Given the description of an element on the screen output the (x, y) to click on. 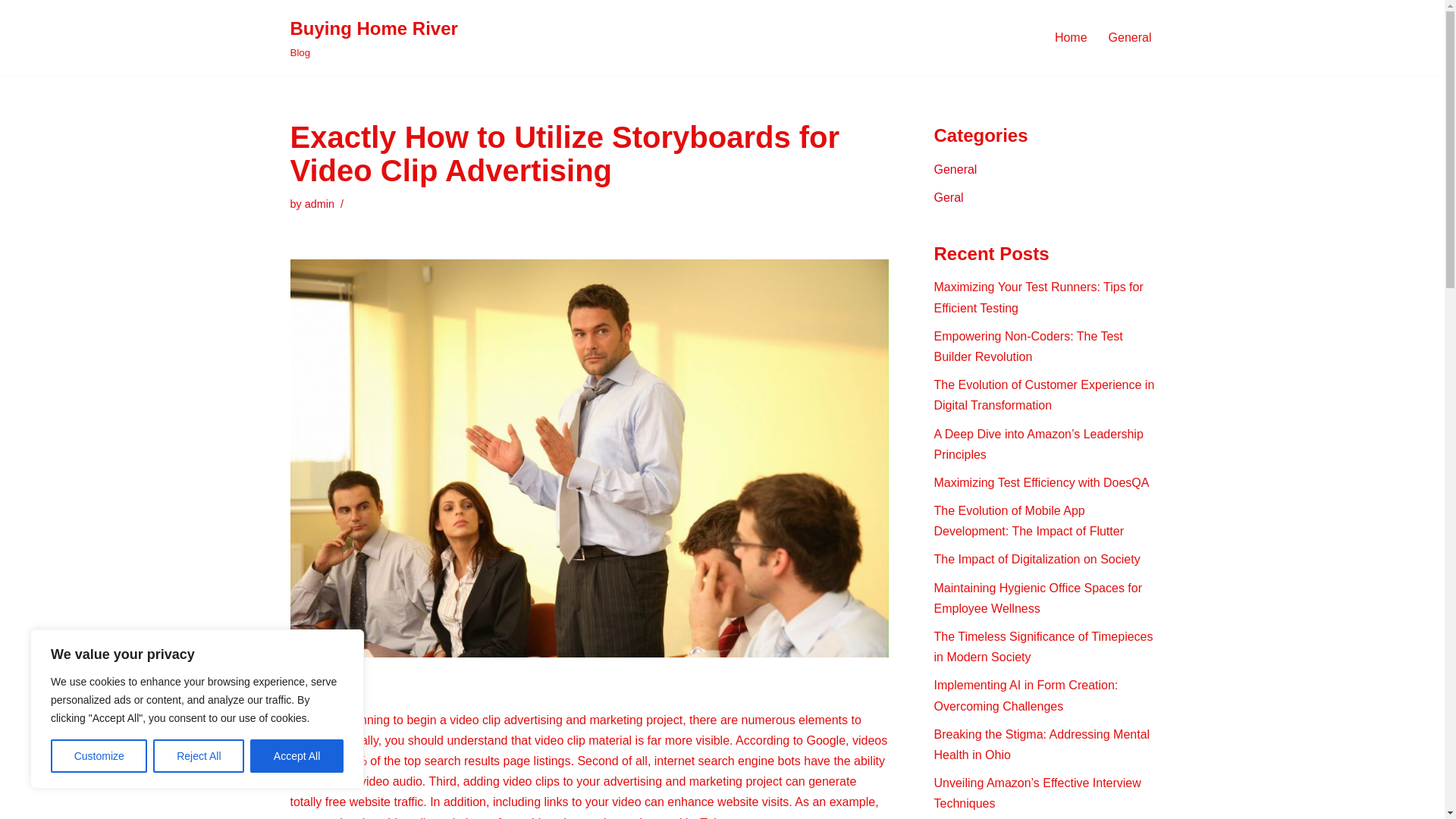
Customize (98, 756)
admin (319, 203)
General (955, 169)
Reject All (198, 756)
Empowering Non-Coders: The Test Builder Revolution (1028, 346)
General (1129, 37)
Maintaining Hygienic Office Spaces for Employee Wellness (1038, 598)
Maximizing Test Efficiency with DoesQA (1042, 481)
Maximizing Your Test Runners: Tips for Efficient Testing (1038, 296)
